Given the description of an element on the screen output the (x, y) to click on. 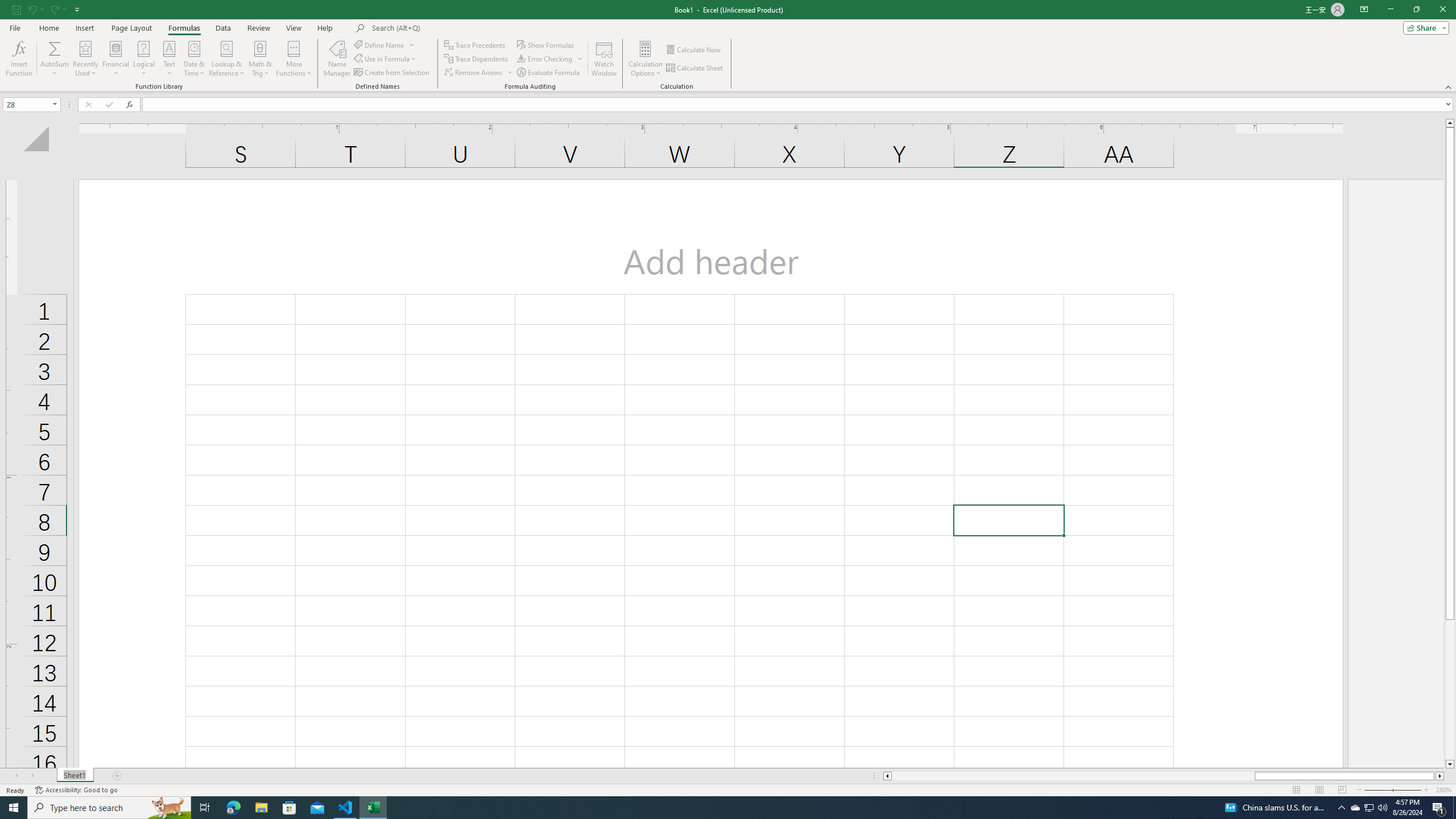
Evaluate Formula (549, 72)
Date & Time (194, 58)
Calculate Sheet (694, 67)
Error Checking... (550, 58)
Use in Formula (385, 58)
